Given the description of an element on the screen output the (x, y) to click on. 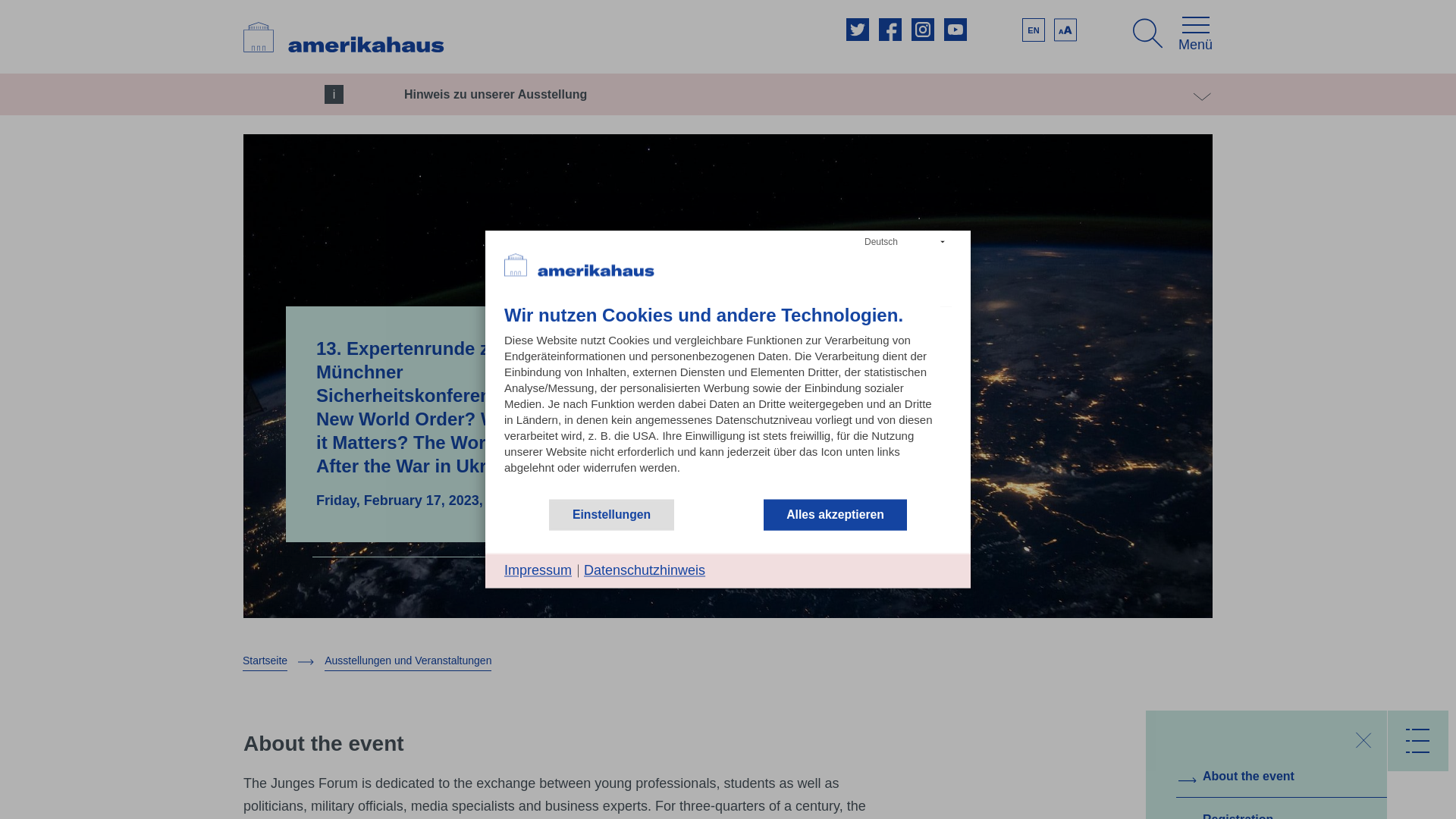
Twitter (857, 29)
Zoom (1065, 29)
EN (1033, 29)
Suche (1147, 33)
Instagram (922, 29)
Facebook (890, 29)
English version (1033, 29)
Youtube (954, 29)
